Given the description of an element on the screen output the (x, y) to click on. 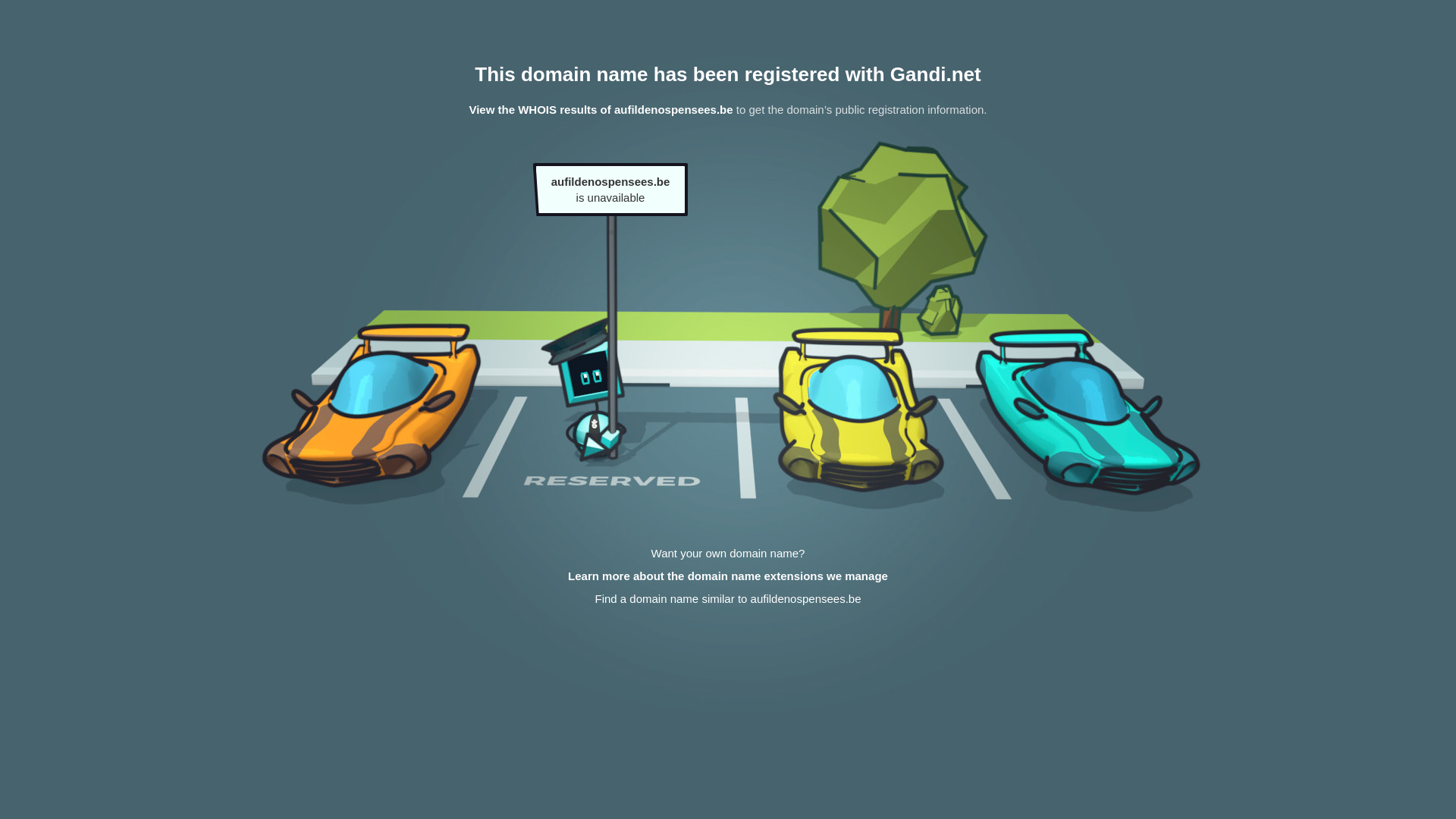
Learn more about the domain name extensions we manage Element type: text (727, 575)
View the WHOIS results of aufildenospensees.be Element type: text (600, 109)
Find a domain name similar to aufildenospensees.be Element type: text (727, 598)
